Given the description of an element on the screen output the (x, y) to click on. 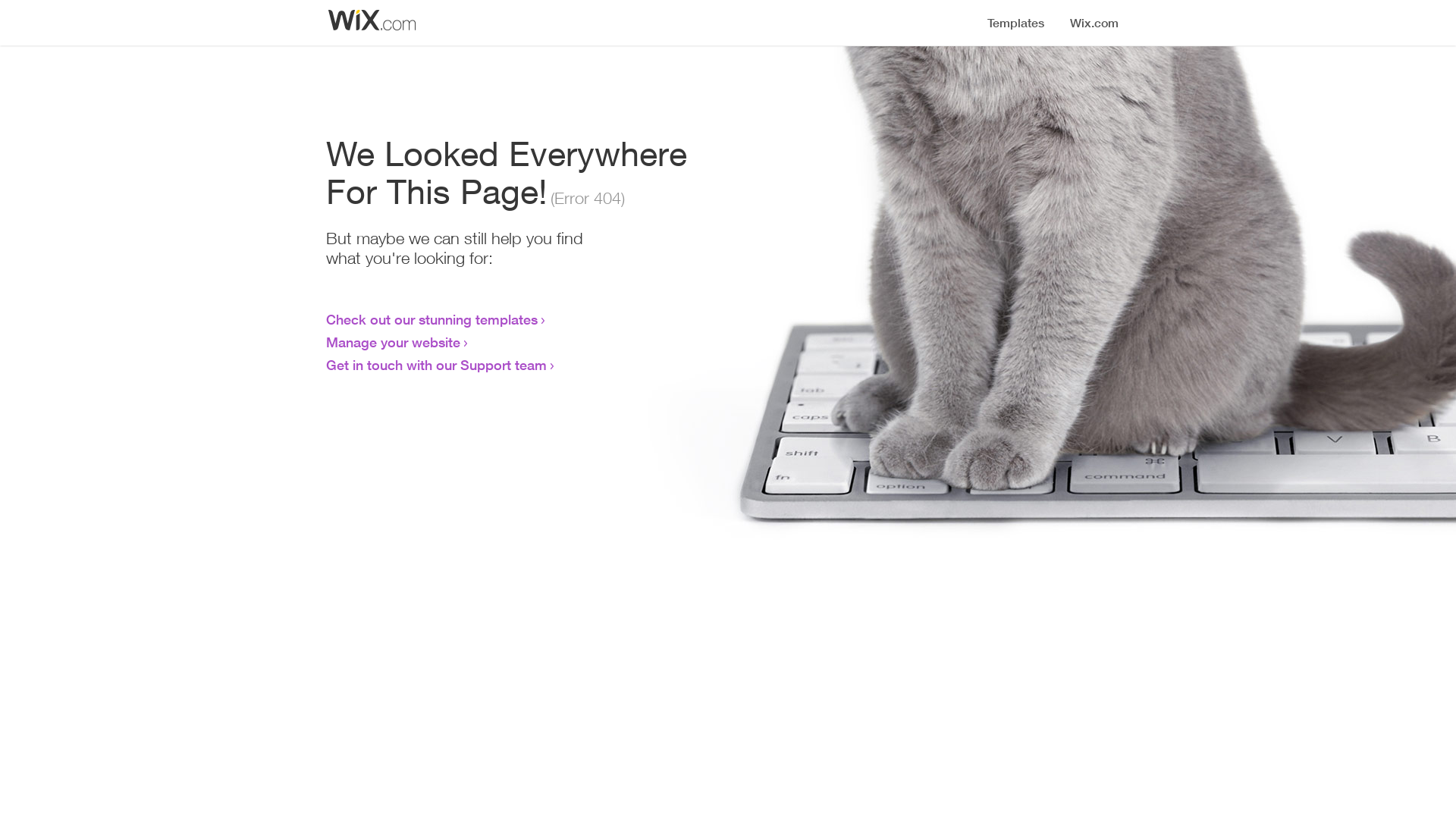
Get in touch with our Support team Element type: text (436, 364)
Manage your website Element type: text (393, 341)
Check out our stunning templates Element type: text (431, 318)
